Given the description of an element on the screen output the (x, y) to click on. 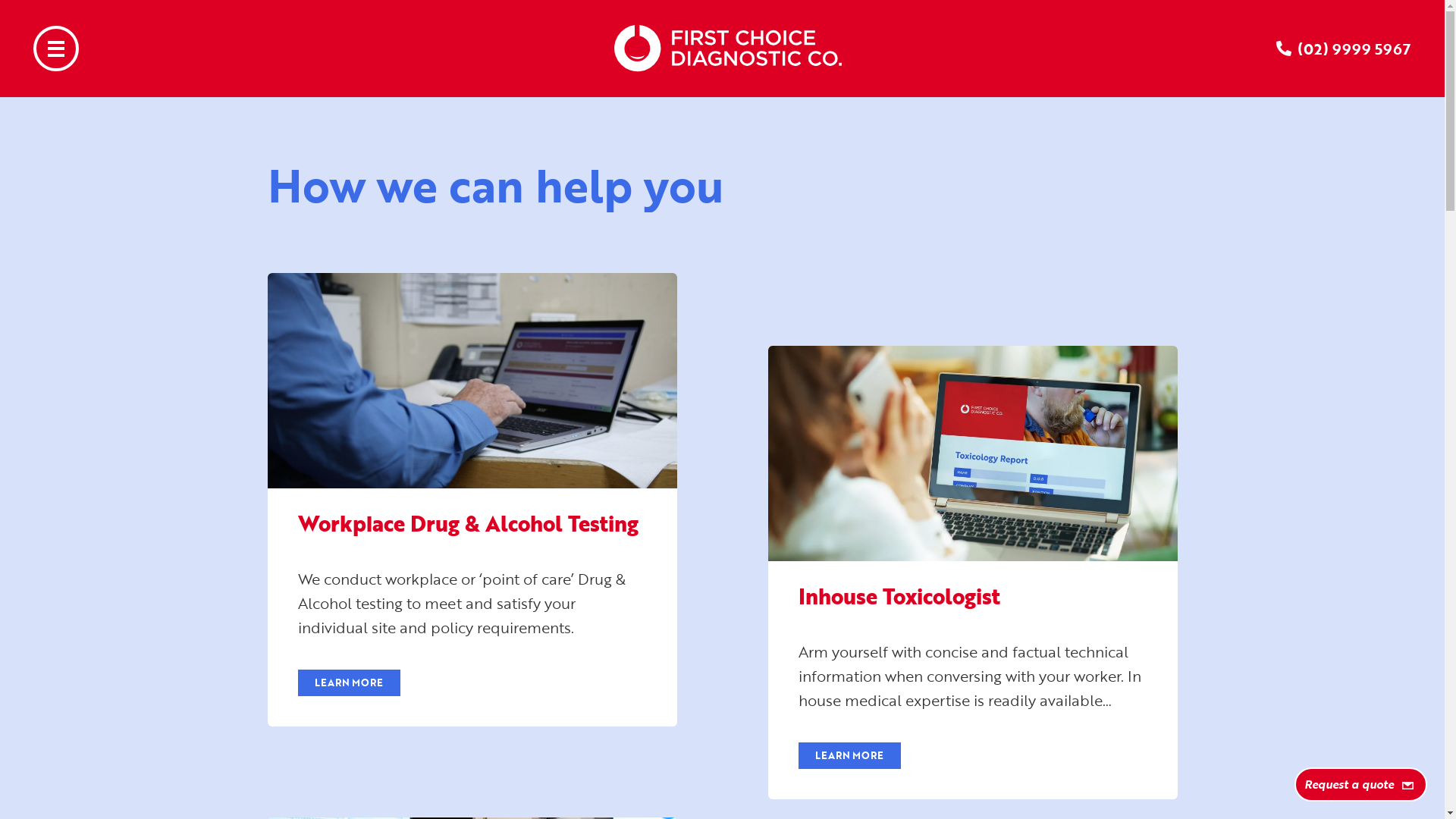
Request a quote Element type: text (1360, 784)
Submit Element type: text (1163, 665)
Inhouse Toxicologist Element type: text (898, 595)
(02) 9999 5967 Element type: text (1353, 48)
Workplace Drug & Alcohol Testing Element type: text (467, 523)
LEARN MORE Element type: text (348, 681)
LEARN MORE Element type: text (848, 754)
